Given the description of an element on the screen output the (x, y) to click on. 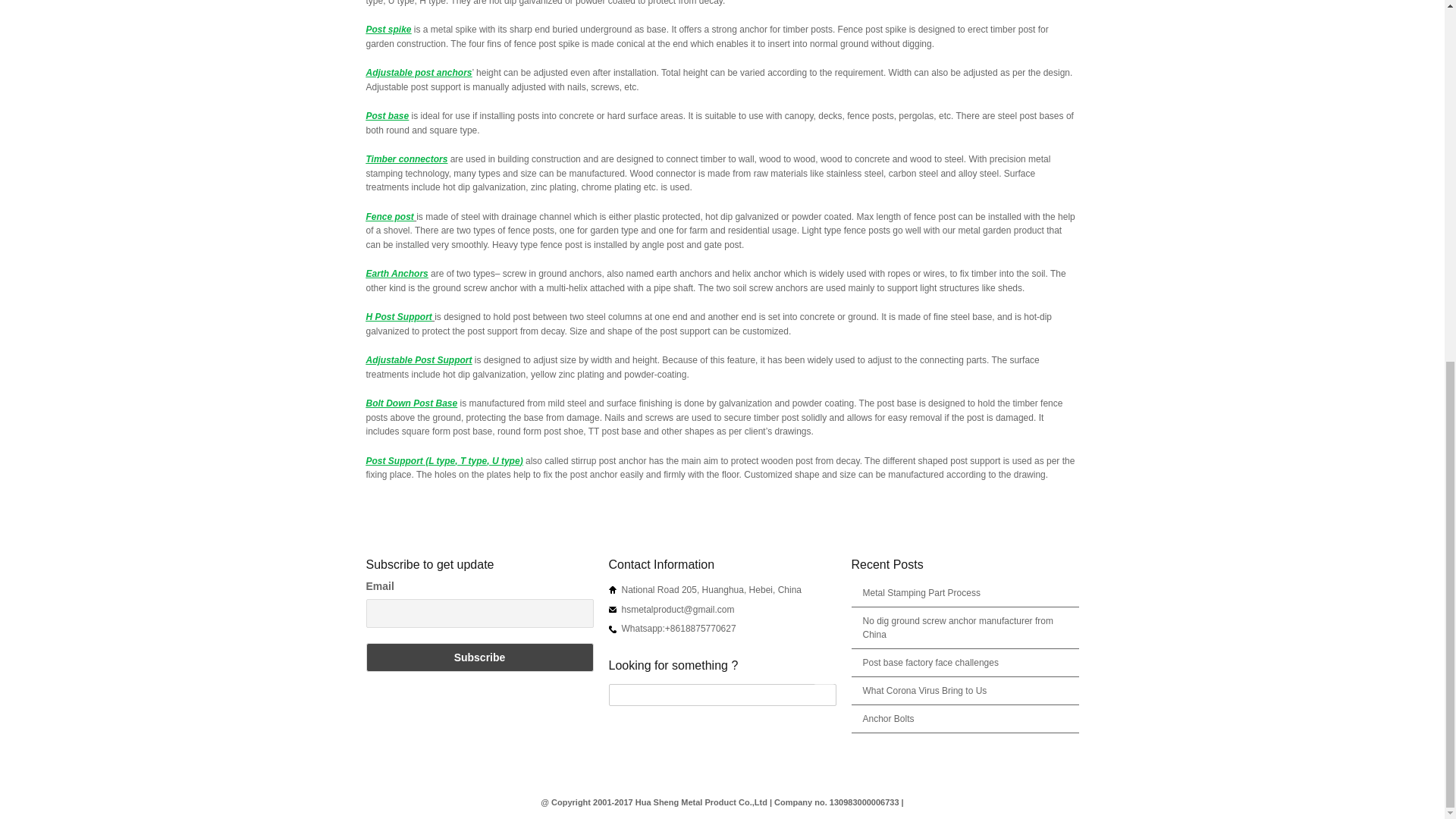
H Post Support (397, 317)
Timber connectors (405, 158)
No dig ground screw anchor manufacturer from China (957, 627)
Bolt Down Post Base (411, 403)
Subscribe (478, 656)
Post base (387, 115)
Email (611, 608)
Fence post (389, 216)
House (611, 589)
Call (611, 629)
Adjustable Post Support (418, 359)
Earth Anchors (396, 273)
Subscribe (478, 656)
Post spike (387, 29)
Adjustable post anchors (418, 72)
